Given the description of an element on the screen output the (x, y) to click on. 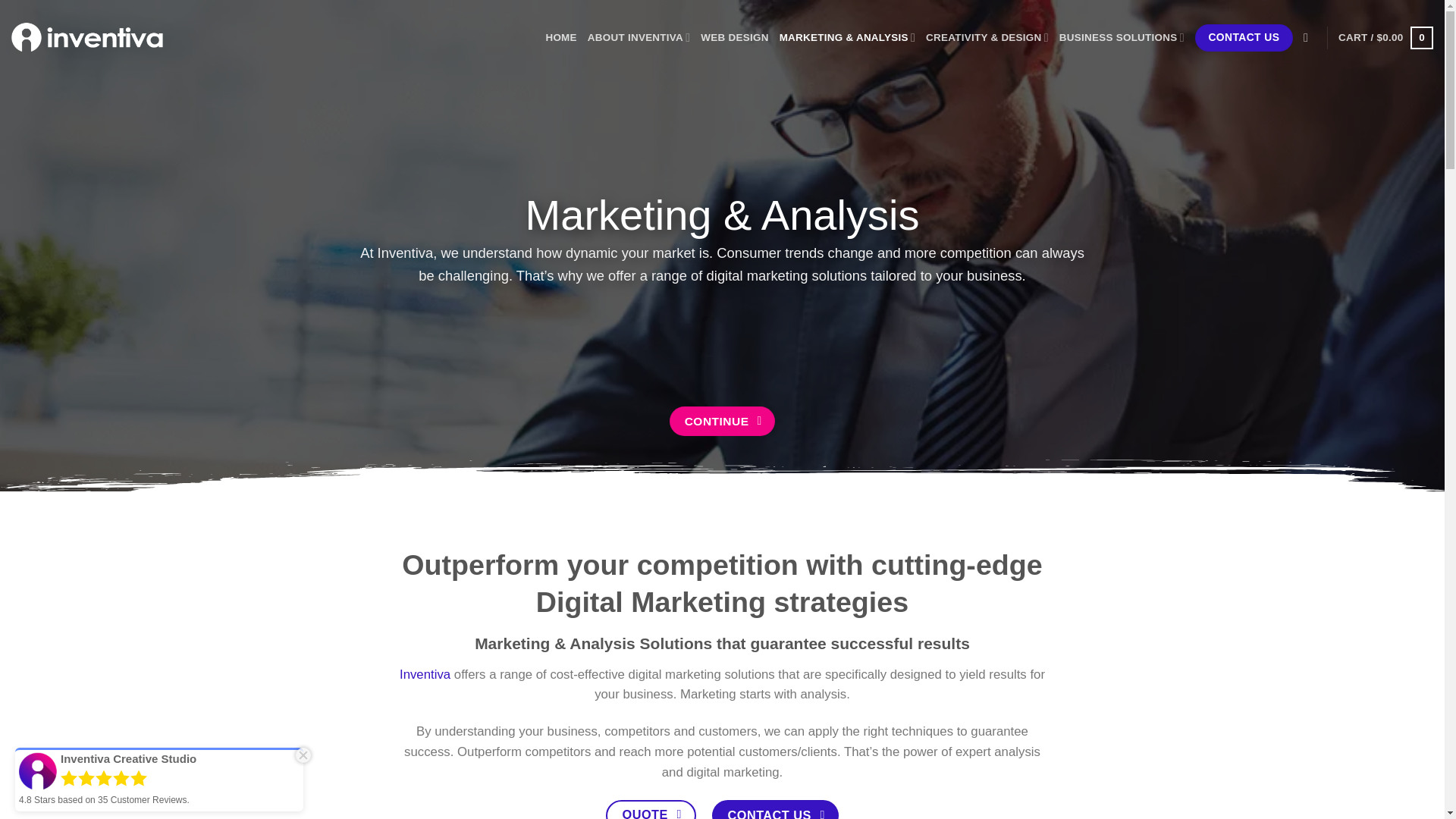
Cart (1385, 37)
WEB DESIGN (734, 37)
CONTINUE (721, 420)
CONTACT US (1243, 37)
HOME (560, 37)
Inventiva (423, 674)
CONTACT US (774, 809)
QUOTE (650, 809)
ABOUT INVENTIVA (639, 37)
BUSINESS SOLUTIONS (1122, 37)
